Given the description of an element on the screen output the (x, y) to click on. 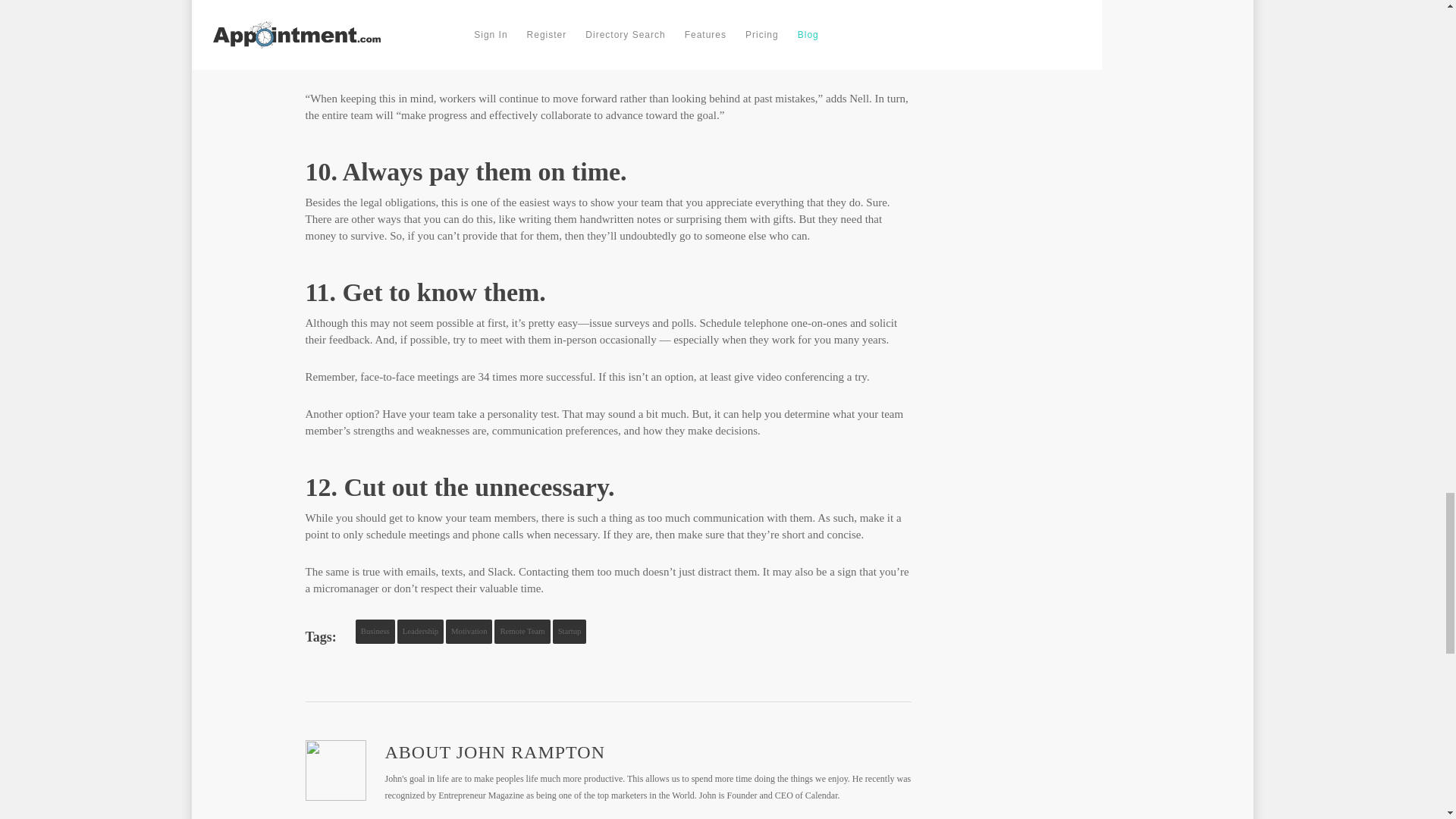
writes (370, 28)
face-to-face meetings are 34 times more successful (475, 377)
only schedule meetings and phone calls (433, 534)
Have your team take a personality test (468, 413)
